Given the description of an element on the screen output the (x, y) to click on. 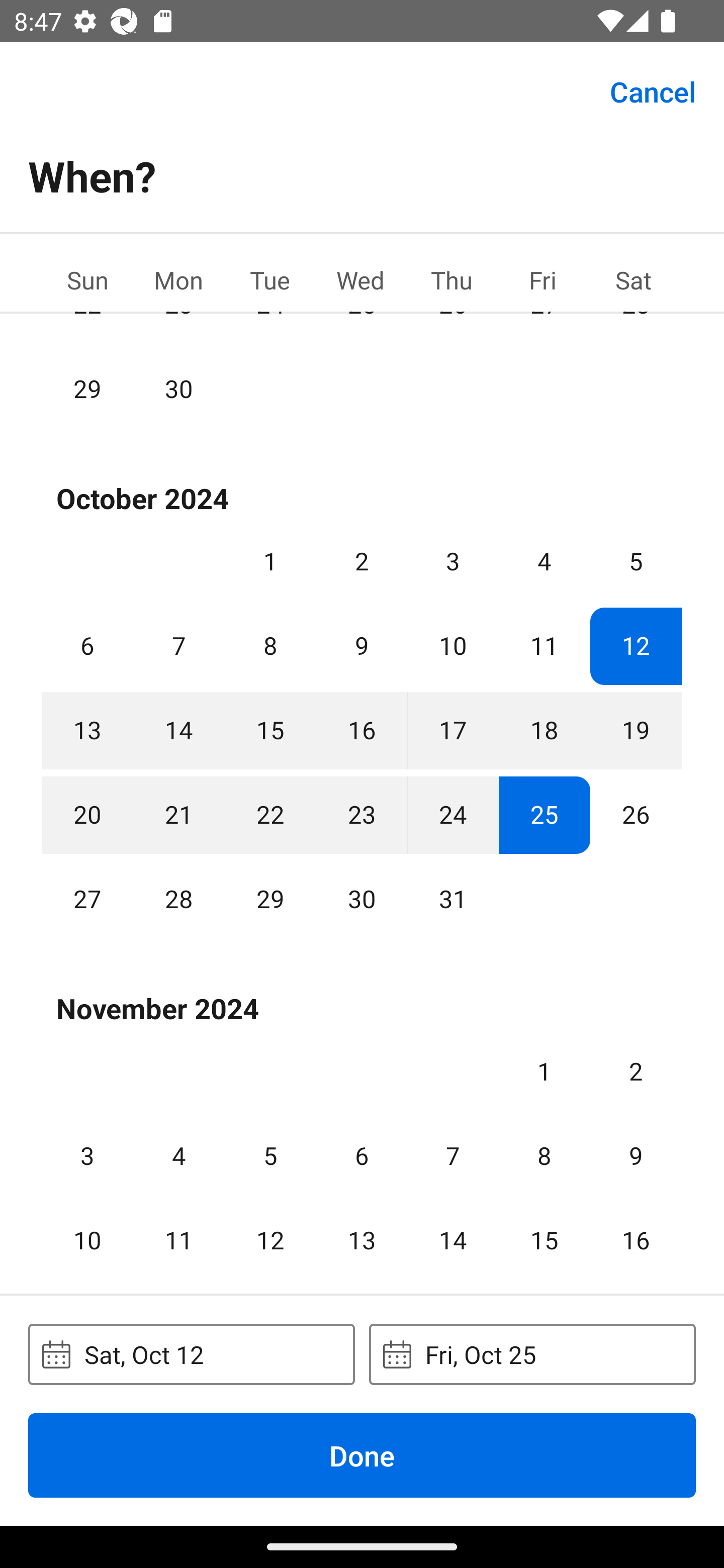
Cancel (652, 90)
Sat, Oct 12 (191, 1353)
Fri, Oct 25 (532, 1353)
Done (361, 1454)
